Given the description of an element on the screen output the (x, y) to click on. 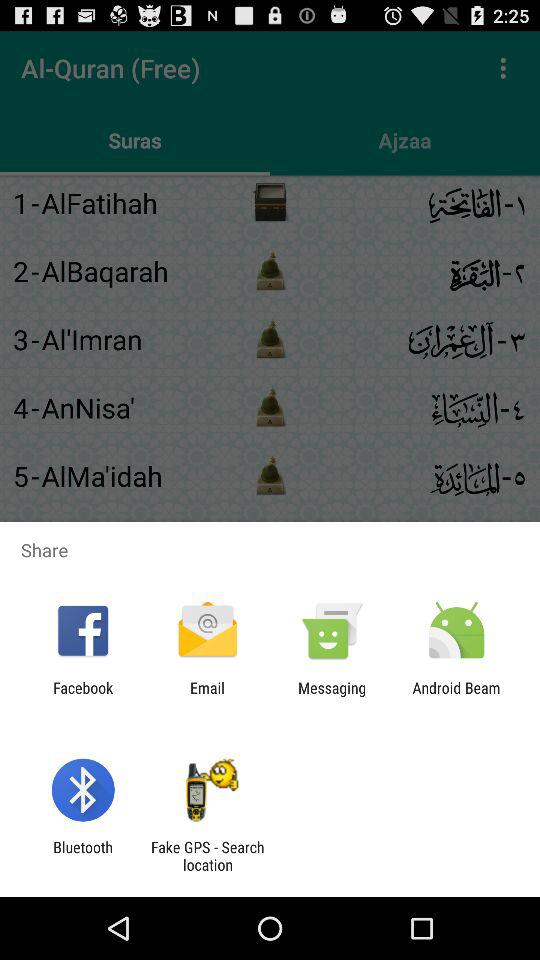
press the icon next to the messaging item (207, 696)
